Given the description of an element on the screen output the (x, y) to click on. 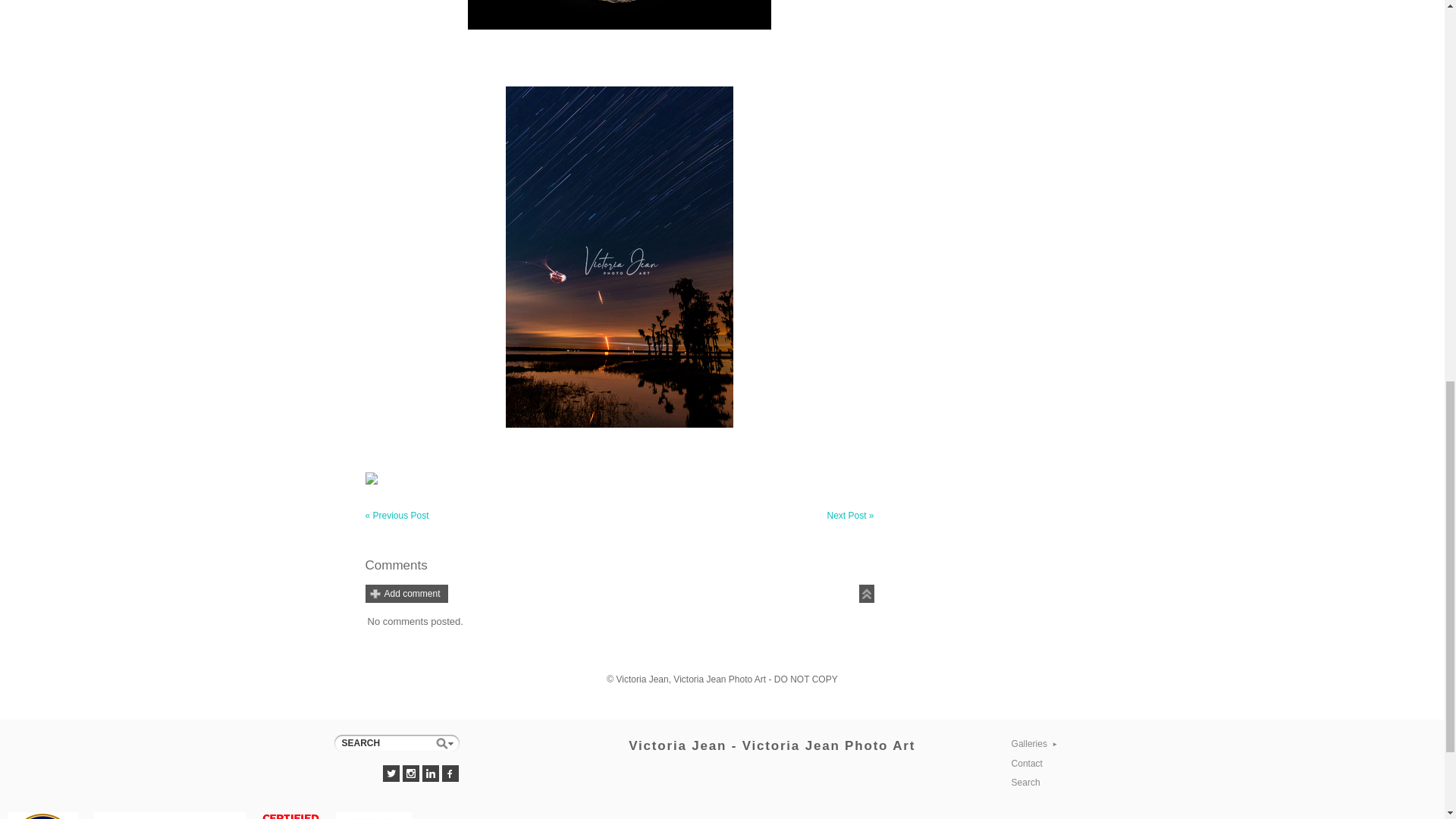
Victoria Jean - Victoria Jean Photo Art (772, 746)
SEARCH (395, 742)
SEARCH (395, 742)
